Given the description of an element on the screen output the (x, y) to click on. 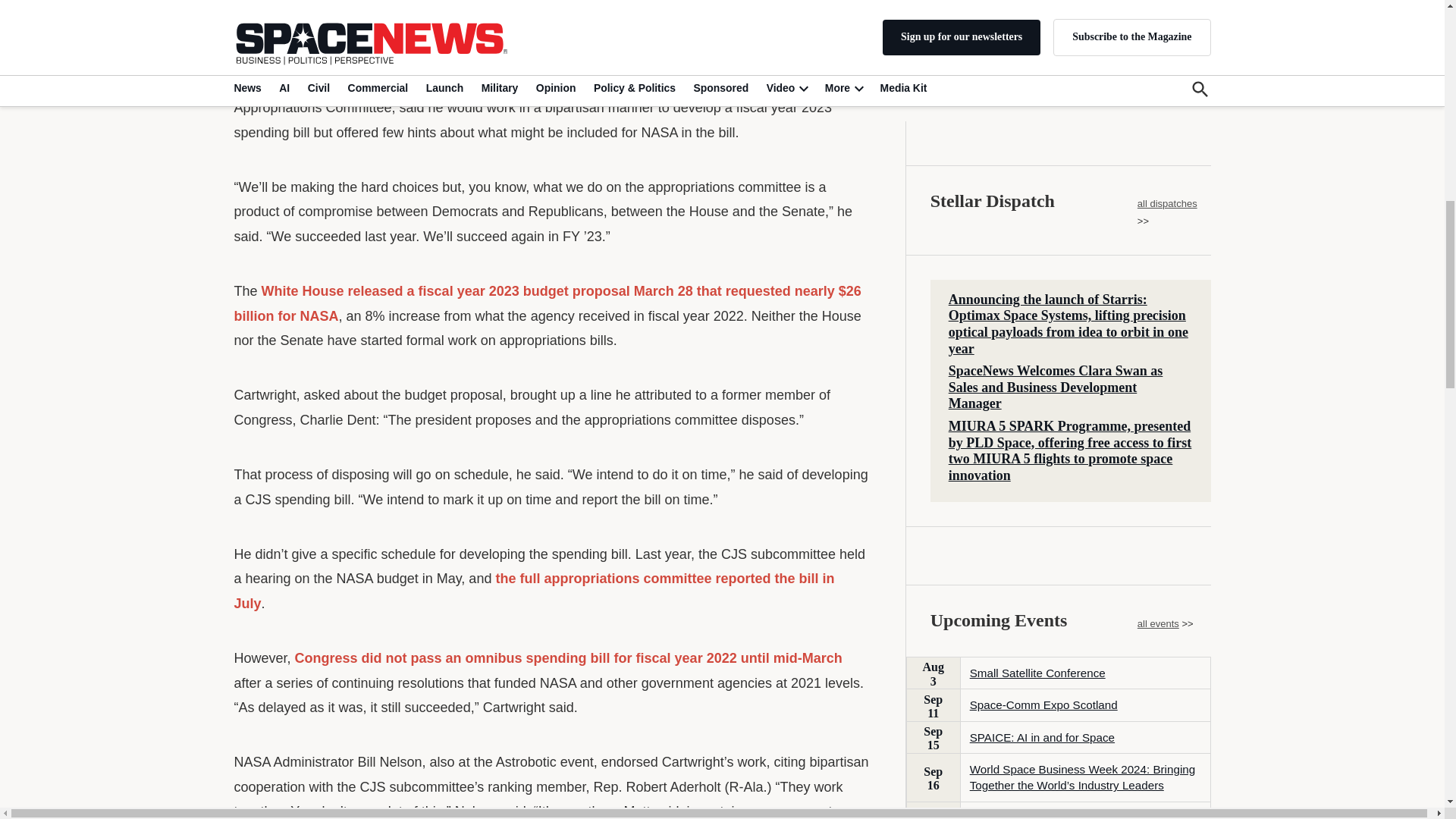
Small Satellite Conference (1037, 98)
